Given the description of an element on the screen output the (x, y) to click on. 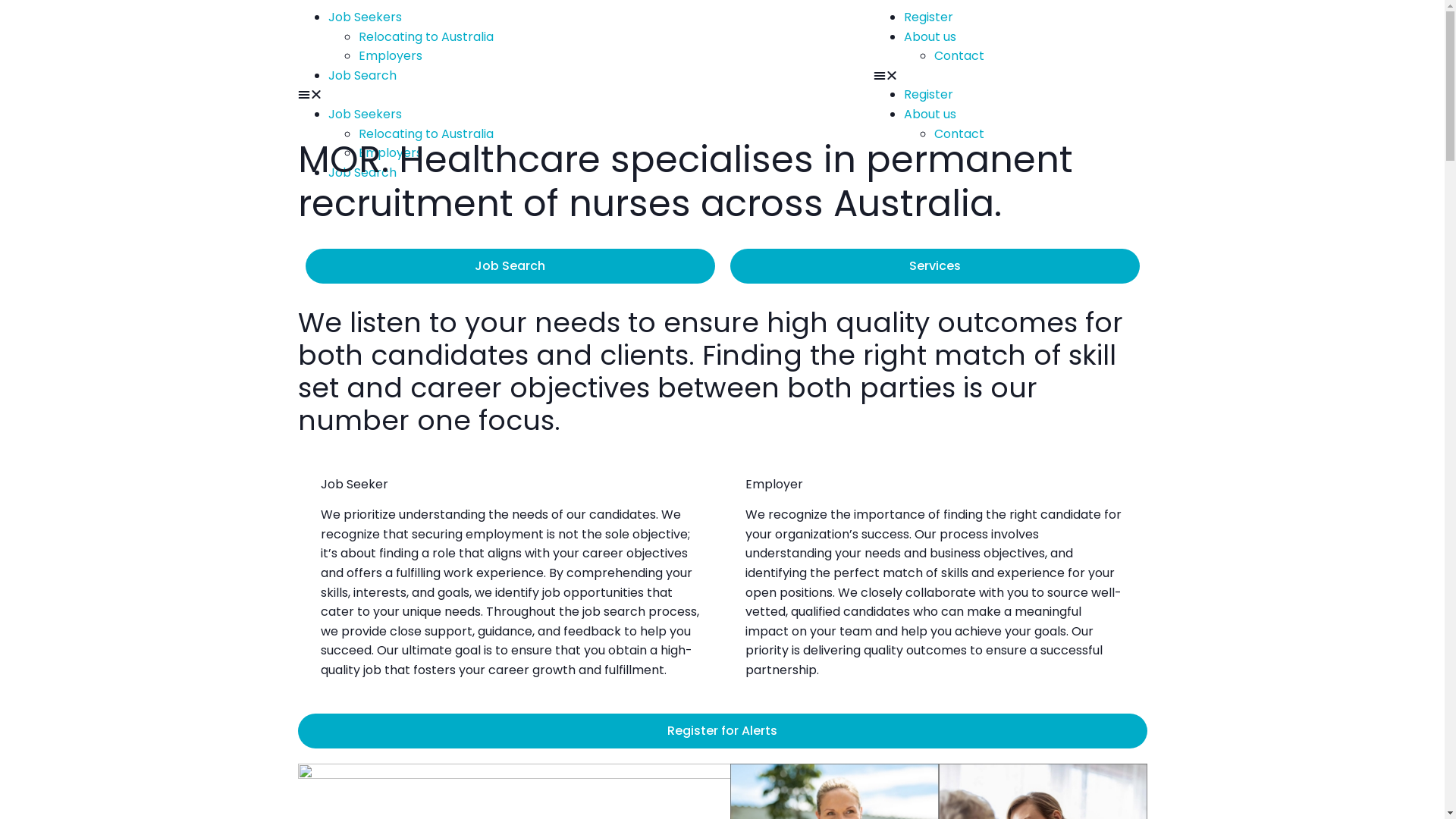
Contact Element type: text (959, 133)
Job Search Element type: text (509, 265)
About us Element type: text (929, 36)
Job Seekers Element type: text (364, 113)
Relocating to Australia Element type: text (424, 36)
Employers Element type: text (389, 152)
Register Element type: text (928, 94)
Job Search Element type: text (361, 75)
Contact Element type: text (959, 55)
Register for Alerts Element type: text (721, 730)
Employers Element type: text (389, 55)
Services Element type: text (934, 265)
Register Element type: text (928, 16)
About us Element type: text (929, 113)
Job Search Element type: text (361, 172)
Job Seekers Element type: text (364, 16)
Relocating to Australia Element type: text (424, 133)
